Given the description of an element on the screen output the (x, y) to click on. 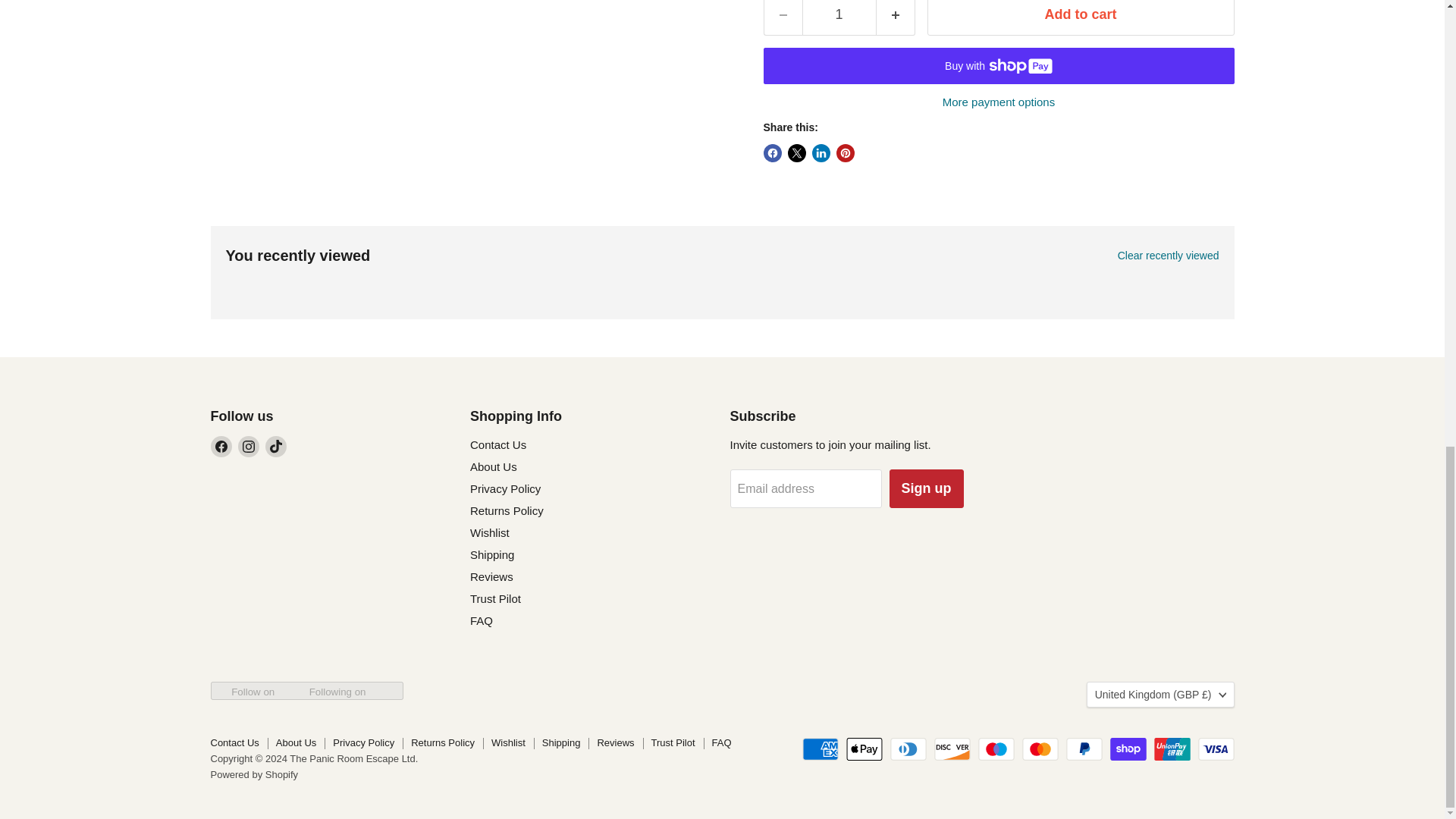
Instagram (248, 446)
Facebook (221, 446)
1 (839, 18)
TikTok (275, 446)
